Given the description of an element on the screen output the (x, y) to click on. 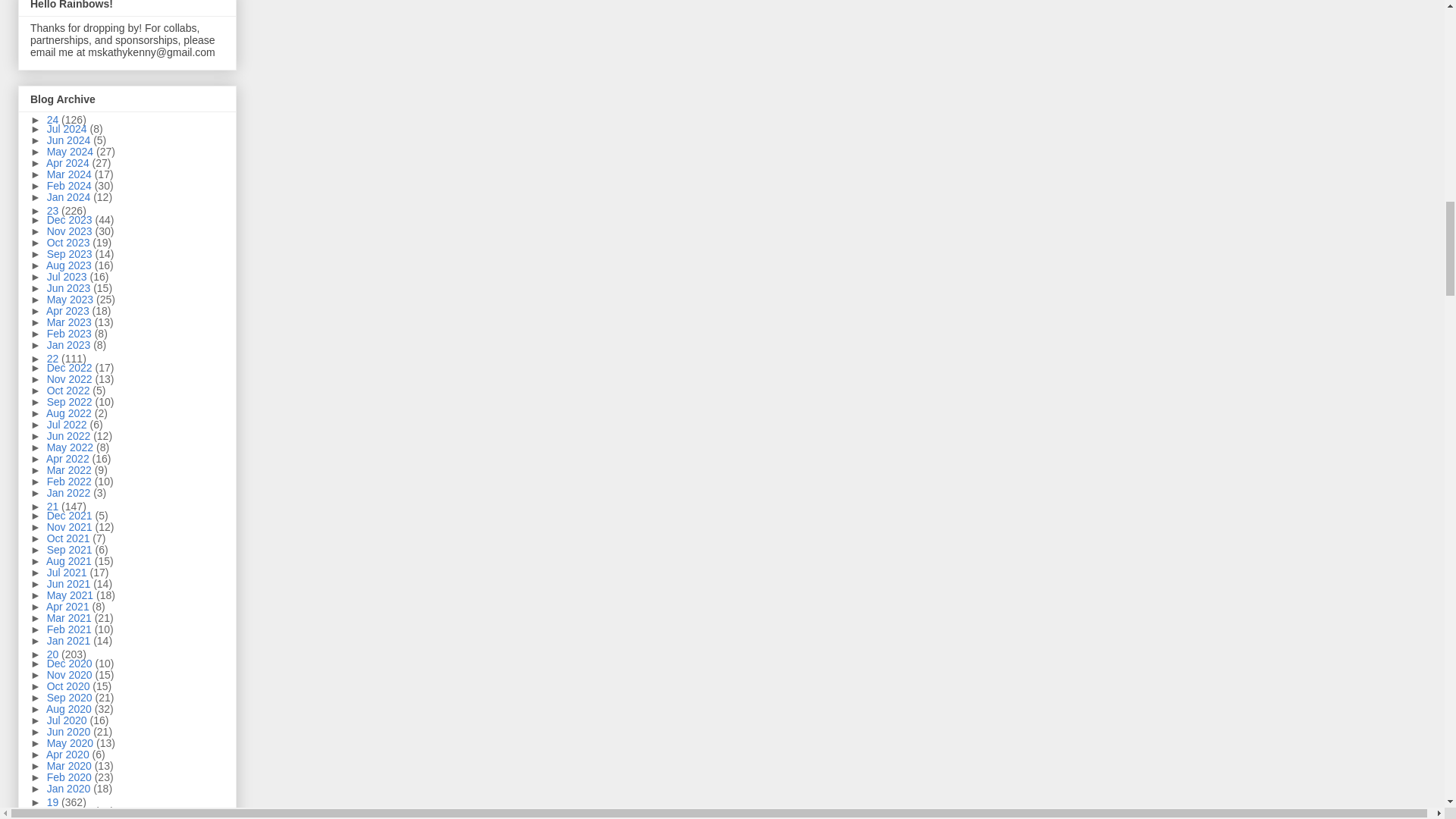
Jul 2024 (68, 128)
Mar 2024 (70, 174)
Jan 2024 (70, 196)
Jun 2024 (70, 140)
Feb 2024 (70, 185)
23 (53, 210)
Apr 2024 (69, 162)
May 2024 (71, 151)
24 (53, 119)
